Given the description of an element on the screen output the (x, y) to click on. 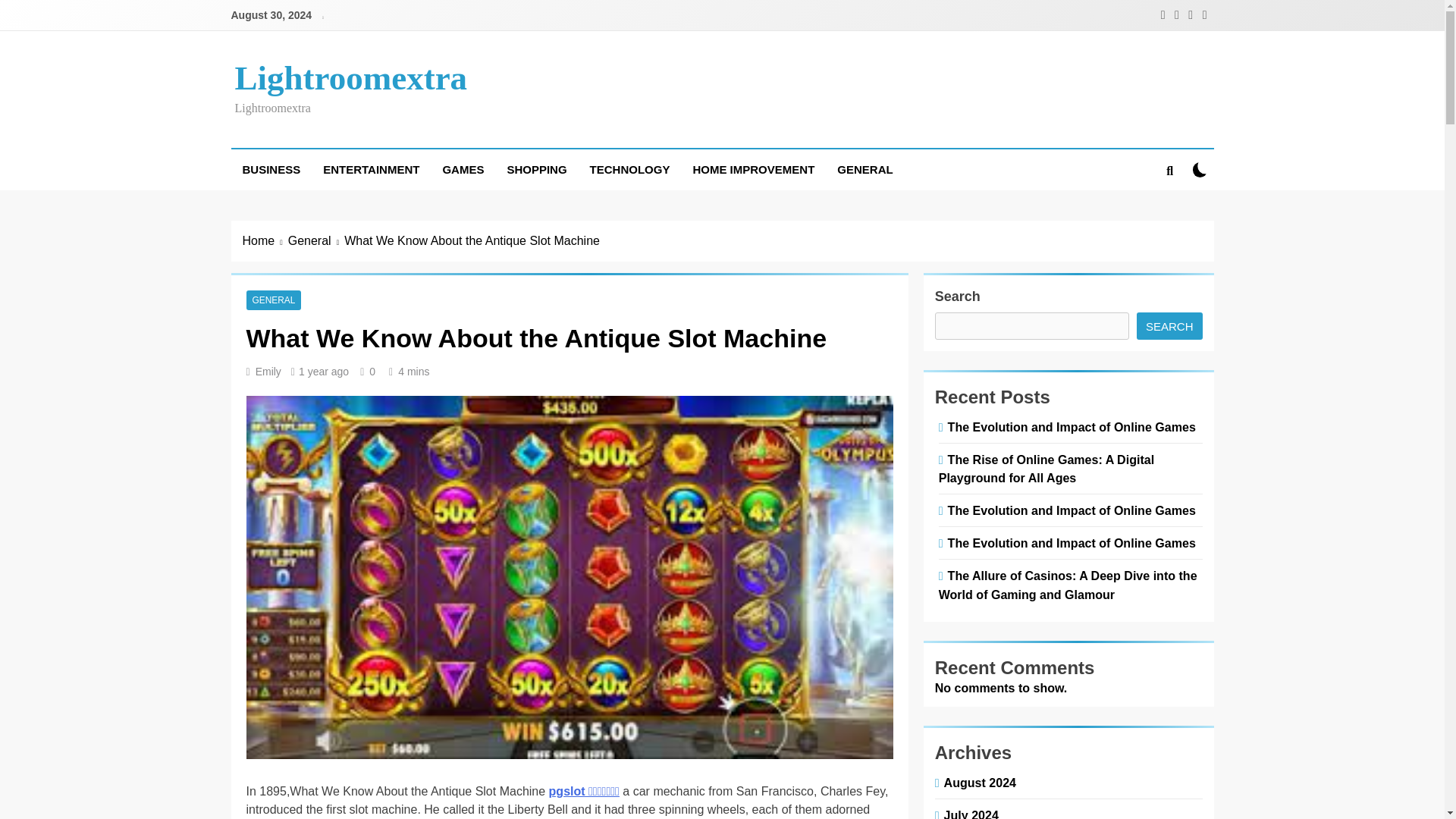
General (315, 240)
BUSINESS (270, 169)
GENERAL (273, 299)
Emily (268, 371)
1 year ago (323, 371)
on (1199, 169)
SHOPPING (536, 169)
GAMES (462, 169)
Home (265, 240)
GENERAL (864, 169)
